Given the description of an element on the screen output the (x, y) to click on. 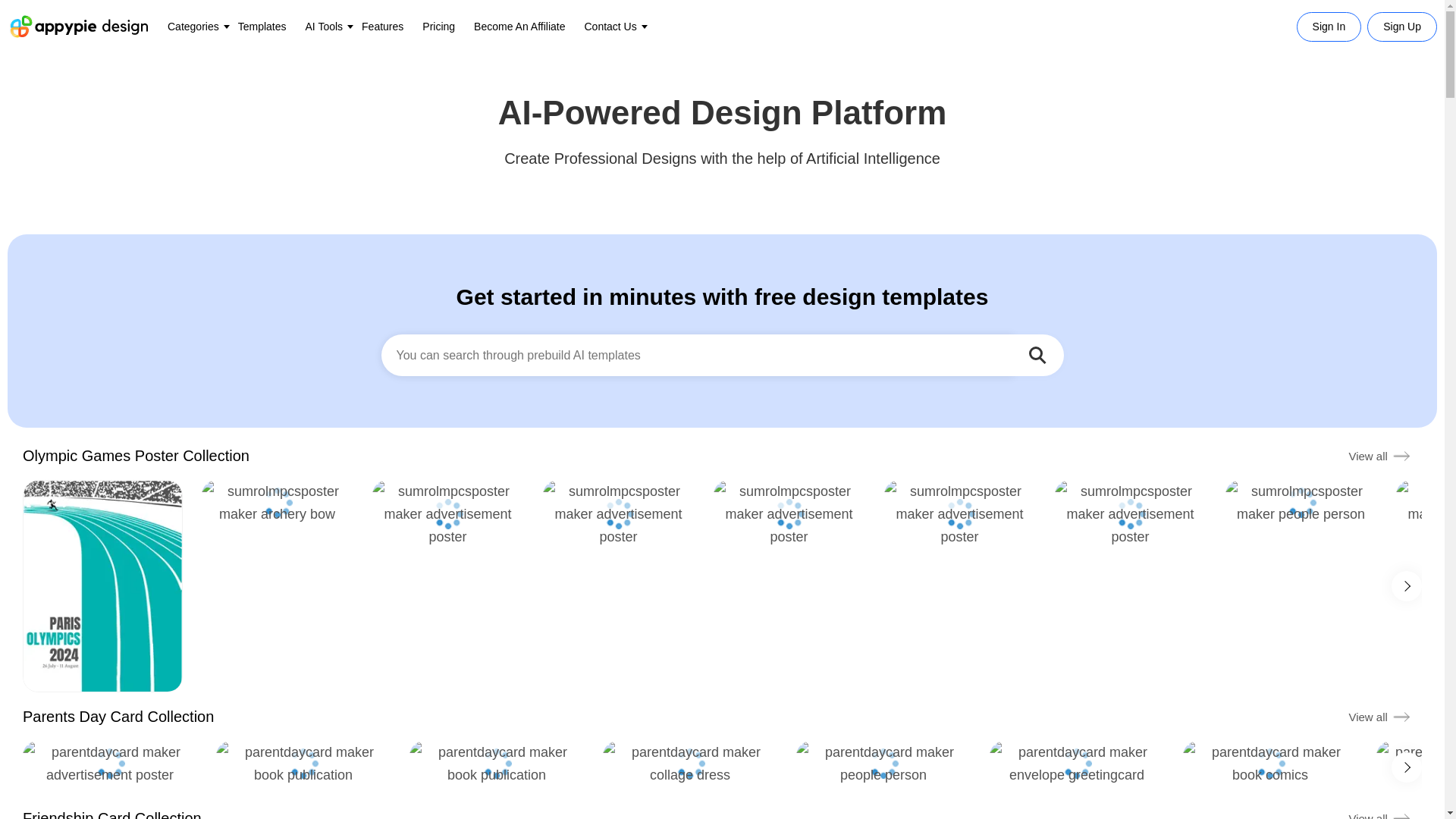
sumrolmpcsposter maker people person (1301, 502)
parentdaycard maker book publication (302, 763)
sumrolmpcsposter maker advertisement poster (446, 513)
sumrolmpcsposter maker archery bow (277, 502)
parentdaycard maker collage dress (689, 763)
parentdaycard maker advertisement poster (109, 763)
sumrolmpcsposter maker advertisement poster (788, 513)
sumrolmpcsposter maker advertisement poster (959, 513)
sumrolmpcsposter maker advertisement poster (618, 513)
sumrolmpcsposter maker advertisement poster (1129, 513)
Categories (193, 26)
parentdaycard maker book publication (496, 763)
